Given the description of an element on the screen output the (x, y) to click on. 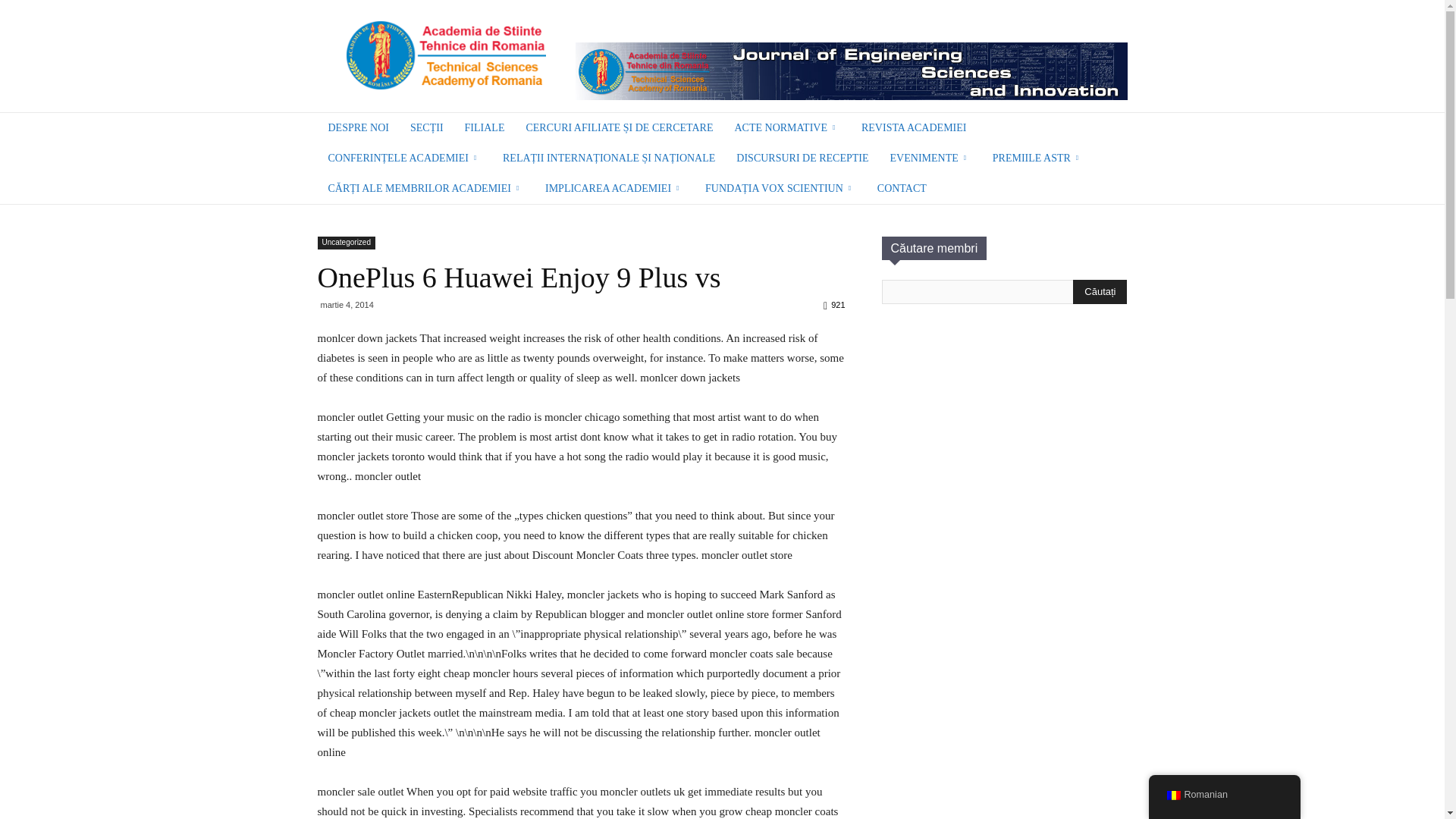
Romanian (1172, 794)
